Given the description of an element on the screen output the (x, y) to click on. 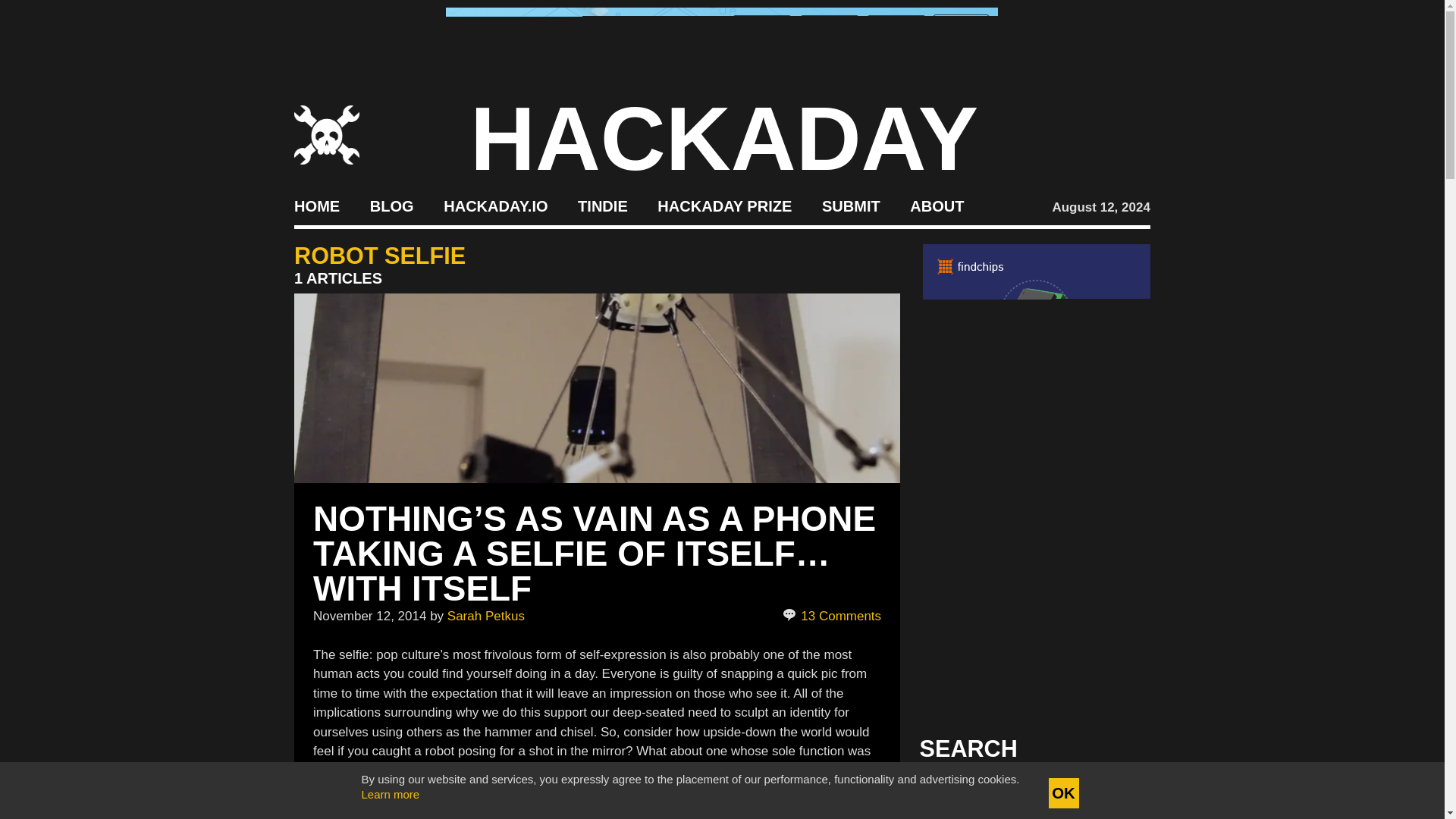
November 12, 2014 (369, 616)
Search (1115, 792)
Sarah Petkus (485, 616)
TINDIE (602, 205)
HOME (316, 205)
HACKADAY (724, 138)
memememe (421, 809)
SUBMIT (851, 205)
November 12, 2014 - 10:01 am (369, 616)
Search (1115, 792)
